Given the description of an element on the screen output the (x, y) to click on. 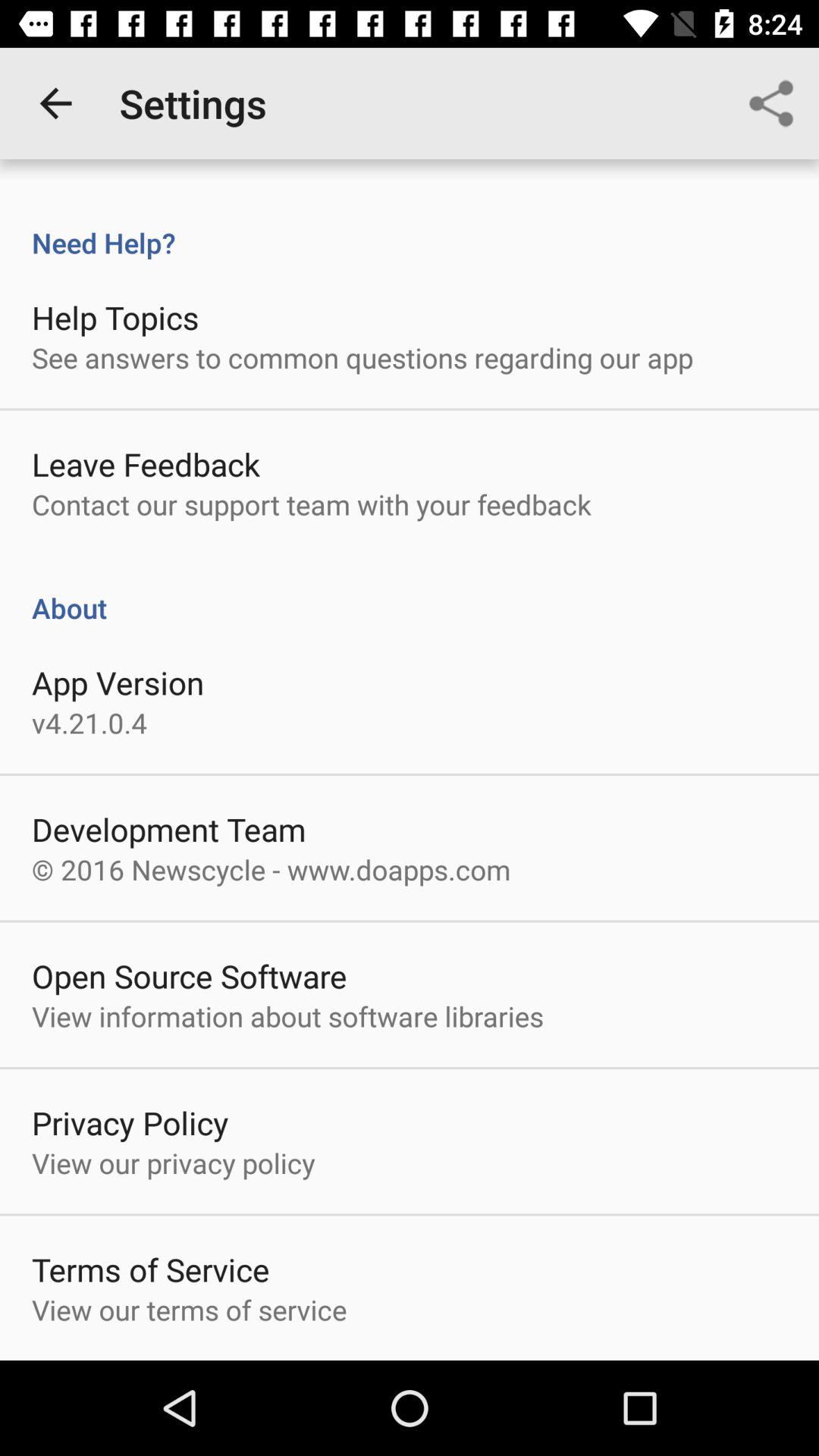
jump to the contact our support item (311, 504)
